Given the description of an element on the screen output the (x, y) to click on. 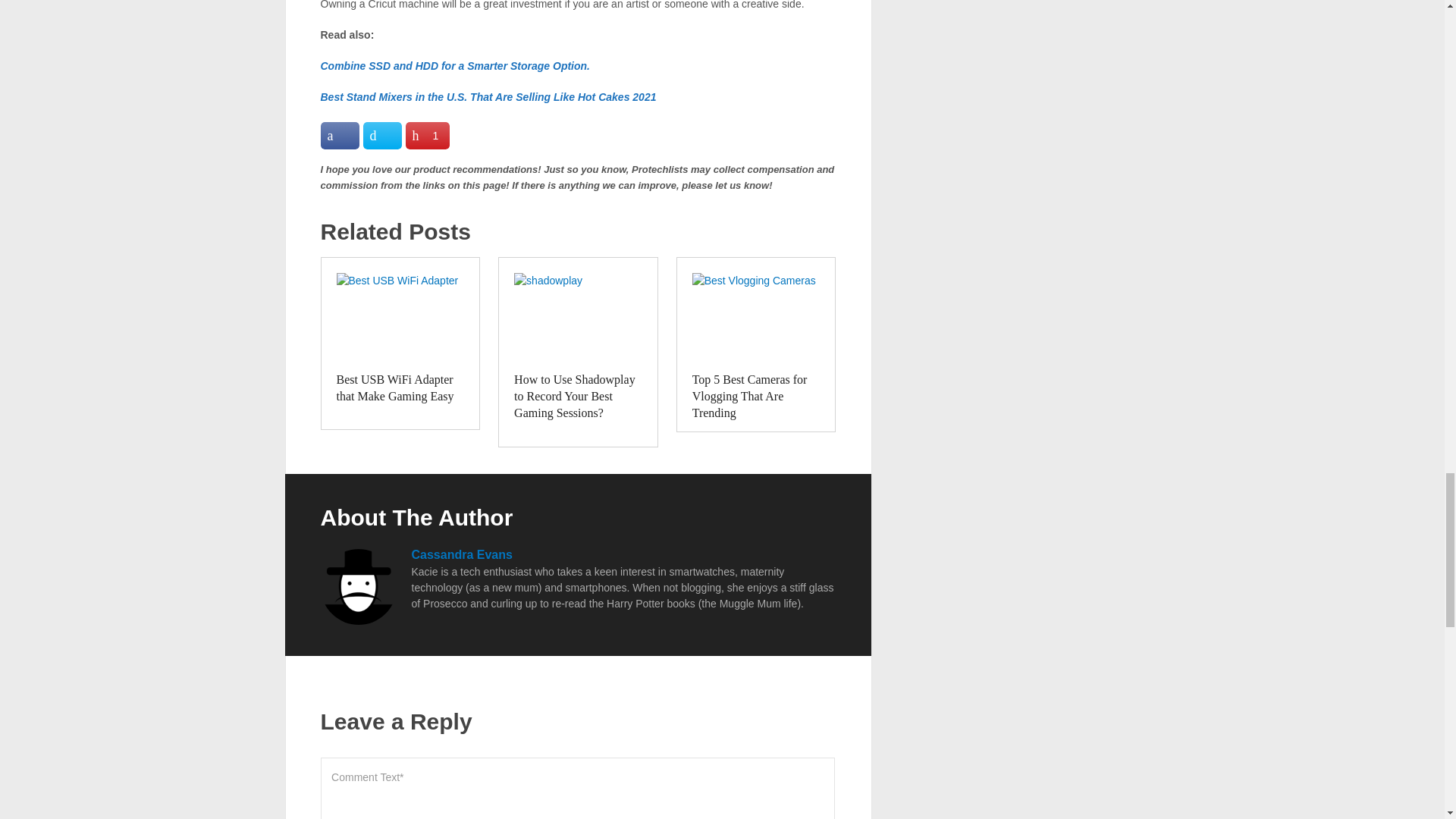
Share on Pinterest (426, 135)
Share on Facebook (339, 135)
Share on Twitter (381, 135)
Best USB WiFi Adapter that Make Gaming Easy (400, 317)
